Given the description of an element on the screen output the (x, y) to click on. 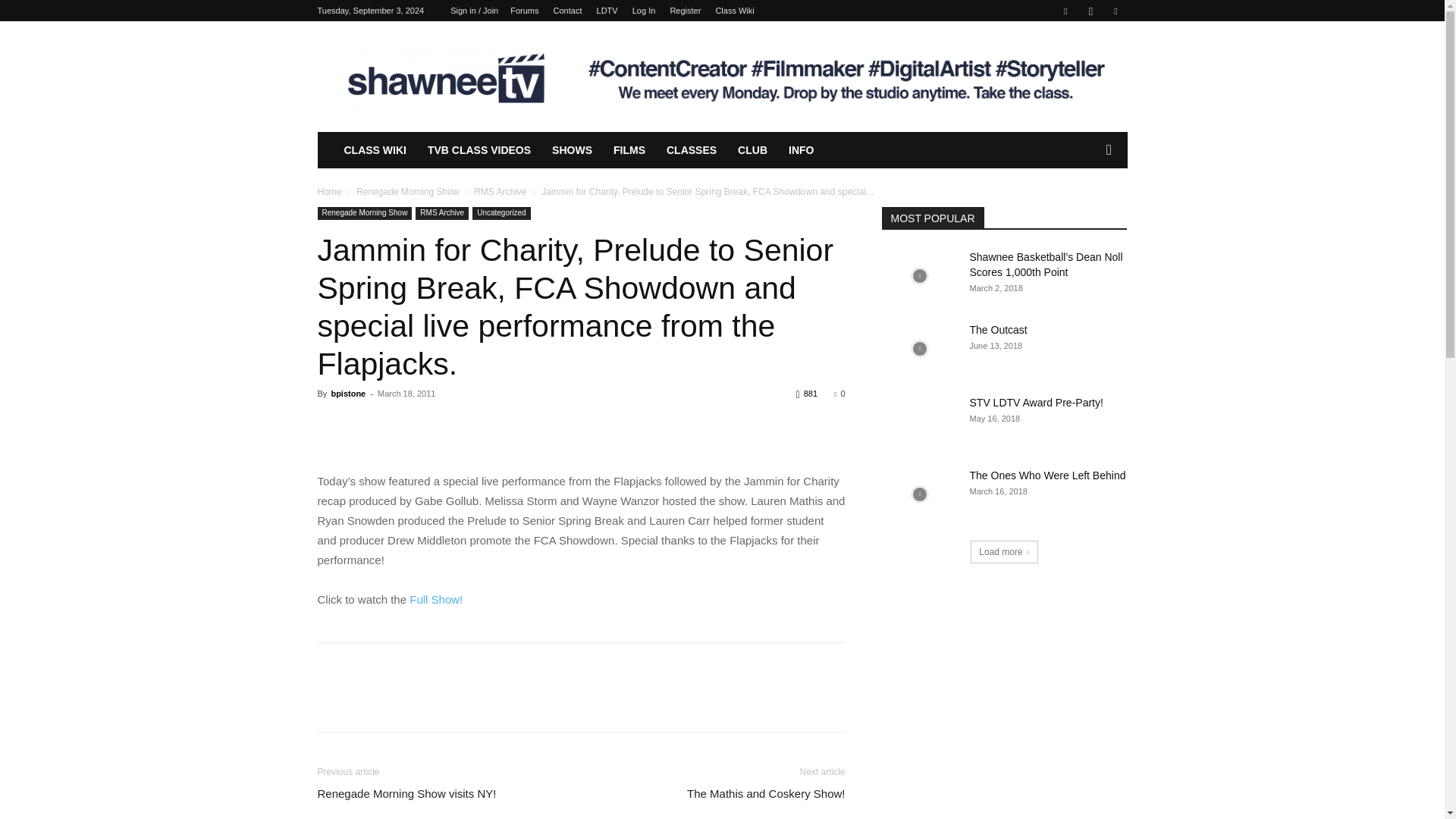
Log In (643, 10)
Forums (524, 10)
Instagram (1090, 10)
Youtube (1114, 10)
Contact (567, 10)
Class Wiki (734, 10)
LDTV (606, 10)
Register (684, 10)
Facebook (1065, 10)
